Given the description of an element on the screen output the (x, y) to click on. 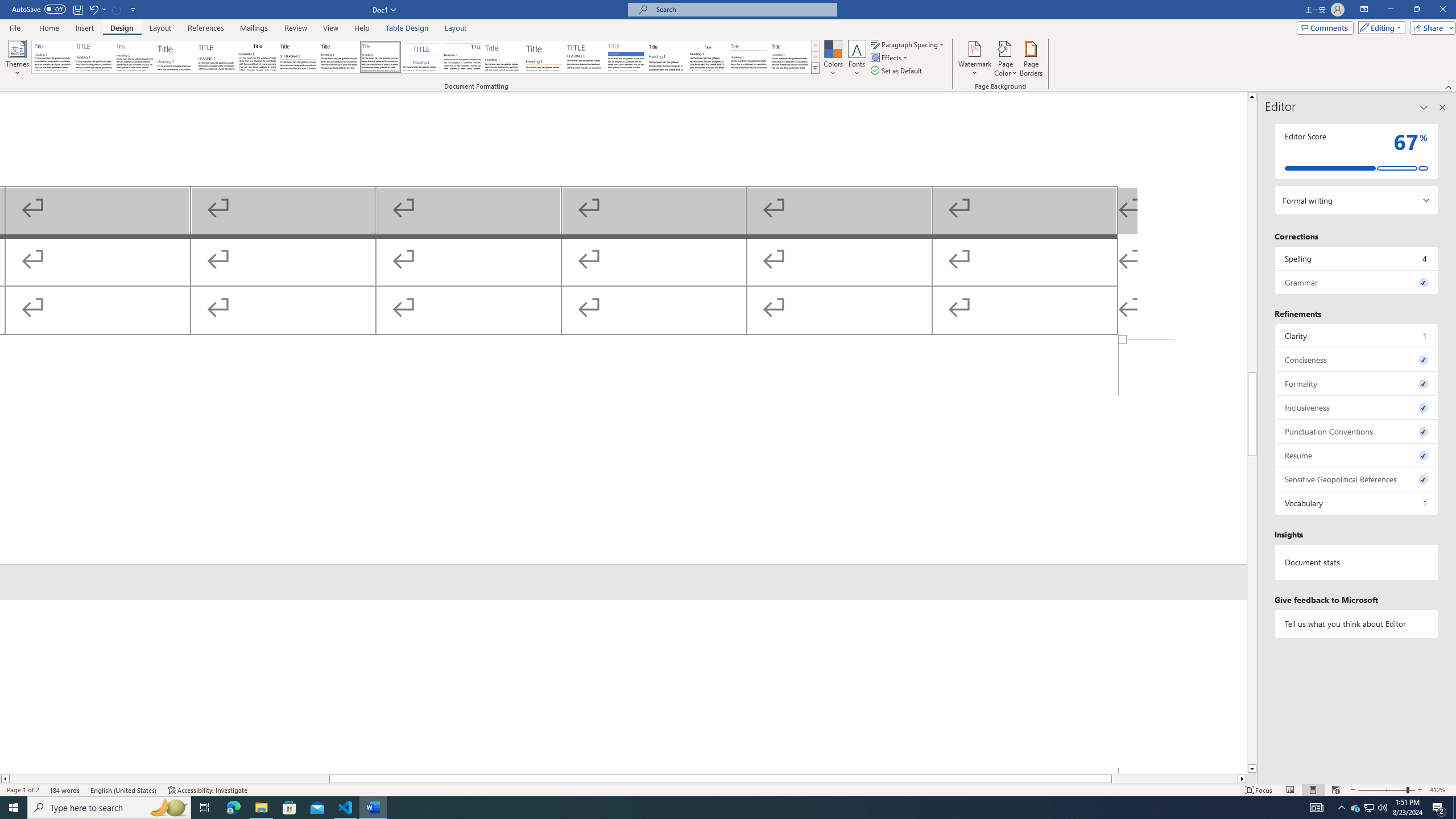
Conciseness, 0 issues. Press space or enter to review items. (1356, 359)
Page Color (1005, 58)
Lines (Stylish) (544, 56)
Page 1 content (623, 215)
Black & White (Word 2013) (338, 56)
Word 2003 (707, 56)
Column right (1242, 778)
